Given the description of an element on the screen output the (x, y) to click on. 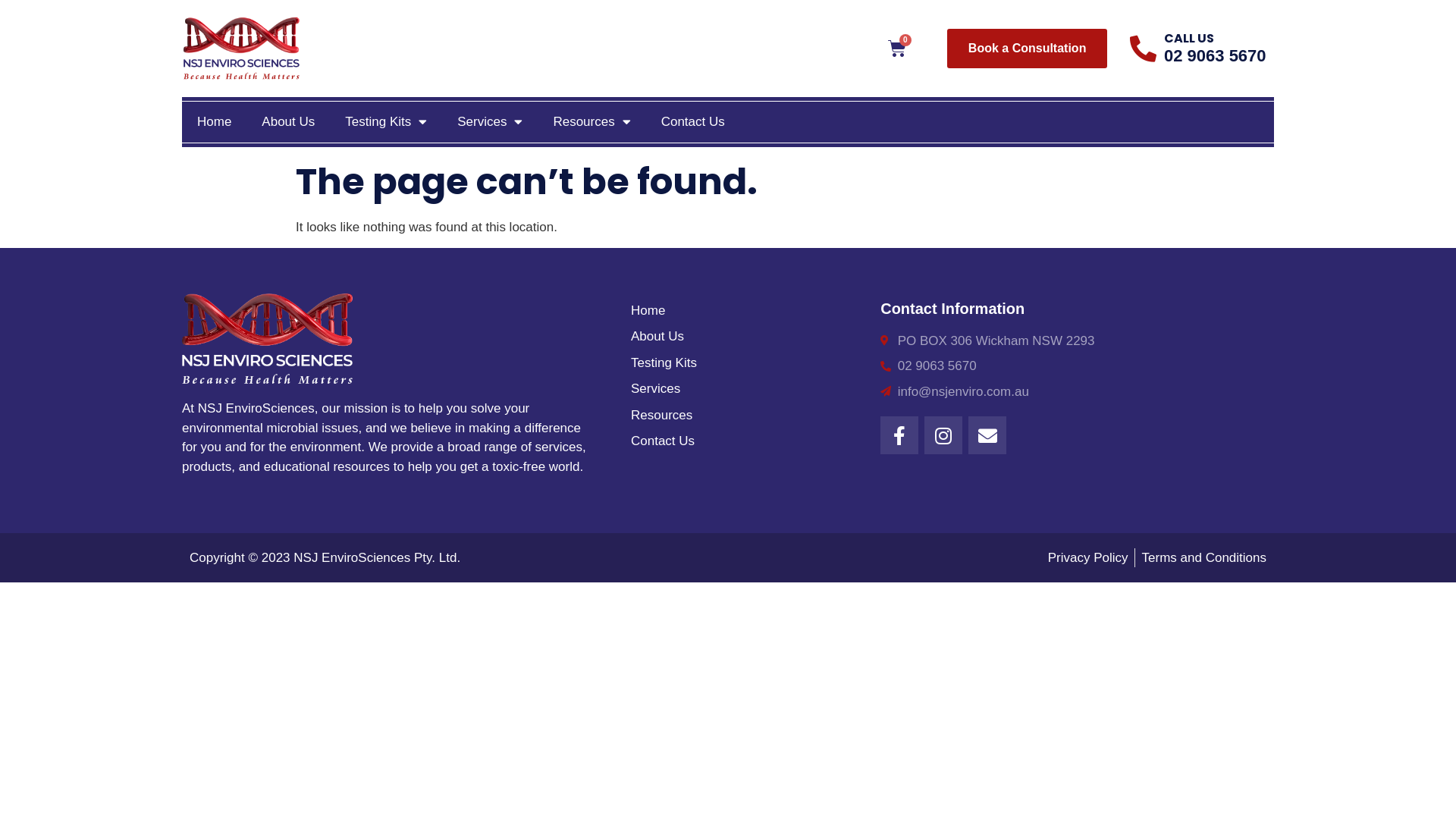
Testing Kits Element type: text (385, 121)
Resources Element type: text (591, 121)
Testing Kits Element type: text (747, 363)
Home Element type: text (747, 310)
About Us Element type: text (747, 336)
Book a Consultation Element type: text (1027, 48)
0 Element type: text (896, 48)
Privacy Policy Element type: text (1088, 557)
Services Element type: text (747, 388)
Contact Us Element type: text (747, 441)
Services Element type: text (489, 121)
About Us Element type: text (287, 121)
Resources Element type: text (747, 415)
CALL US Element type: text (1189, 38)
Terms and Conditions Element type: text (1204, 557)
02 9063 5670 Element type: text (1069, 366)
02 9063 5670 Element type: text (1215, 55)
Contact Us Element type: text (693, 121)
Home Element type: text (214, 121)
